Given the description of an element on the screen output the (x, y) to click on. 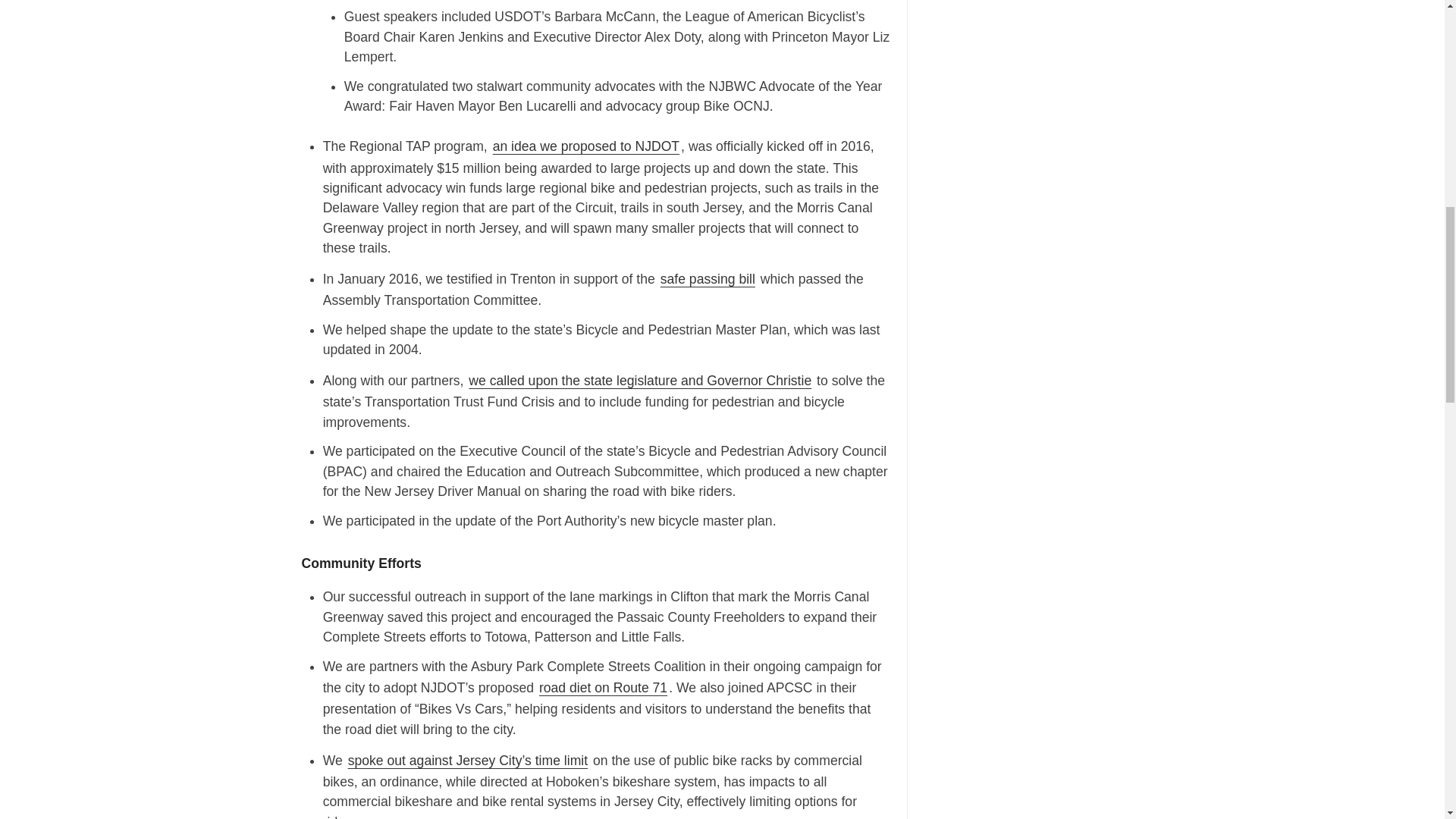
we called upon the state legislature and Governor Christie (639, 380)
road diet on Route 71 (602, 687)
an idea we proposed to NJDOT (586, 146)
safe passing bill (708, 278)
